Given the description of an element on the screen output the (x, y) to click on. 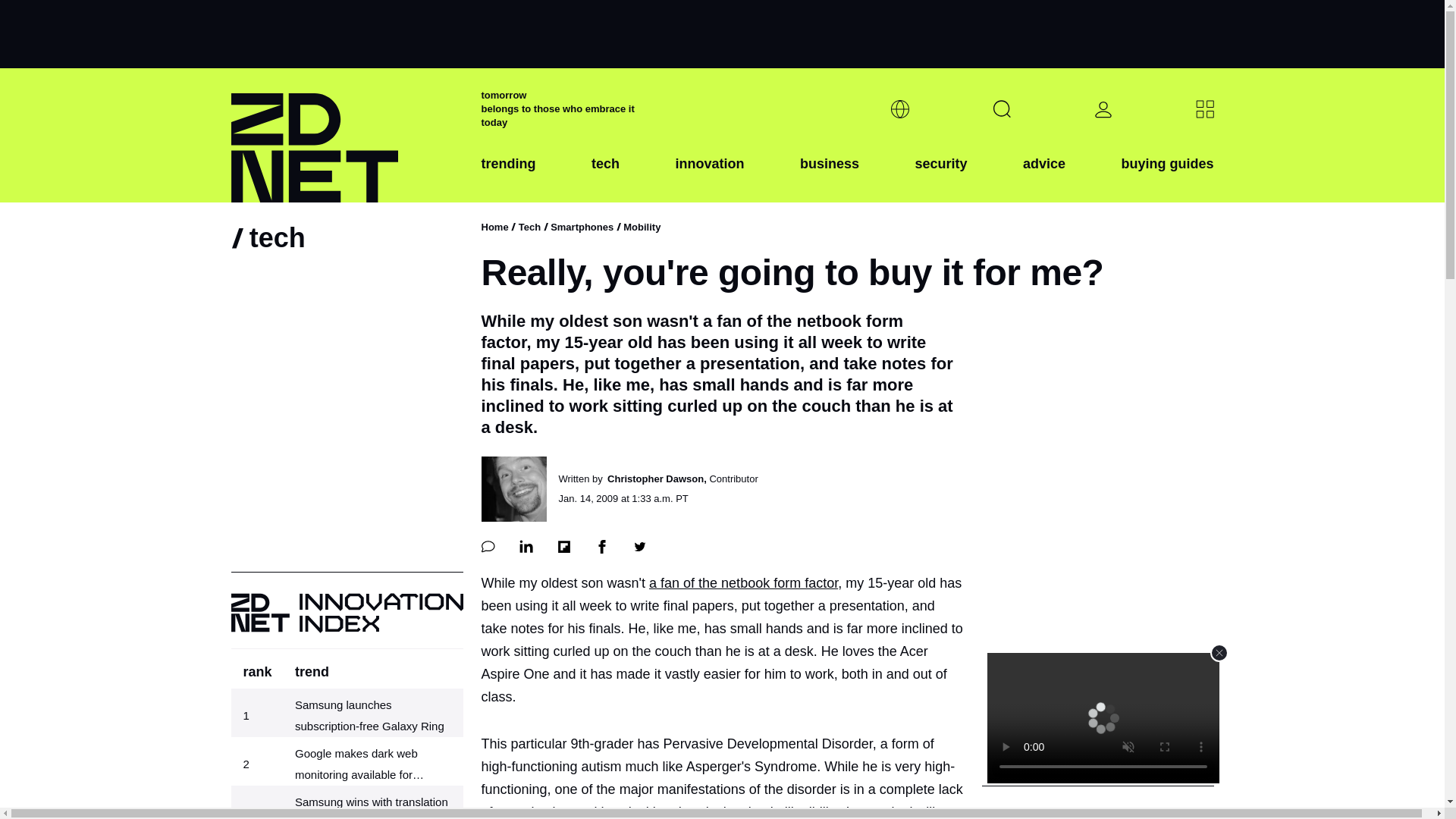
ZDNET (346, 134)
3rd party ad content (1097, 666)
3rd party ad content (721, 33)
trending (507, 175)
